Given the description of an element on the screen output the (x, y) to click on. 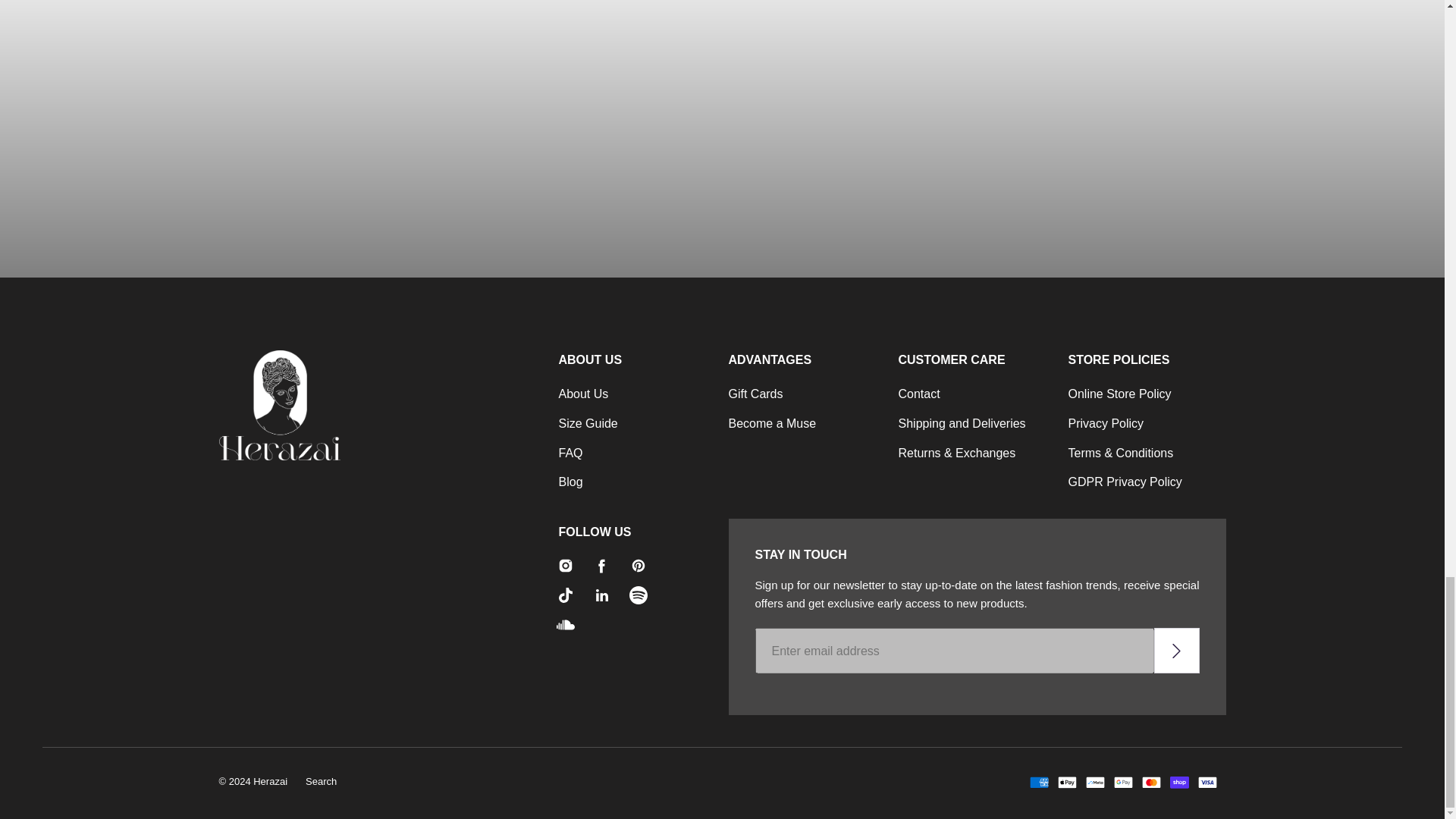
Visa (1207, 782)
Herazai (339, 405)
American Express (1038, 782)
Mastercard (1150, 782)
Apple Pay (1066, 782)
Shop Pay (1178, 782)
Google Pay (1122, 782)
Meta Pay (1095, 782)
